Given the description of an element on the screen output the (x, y) to click on. 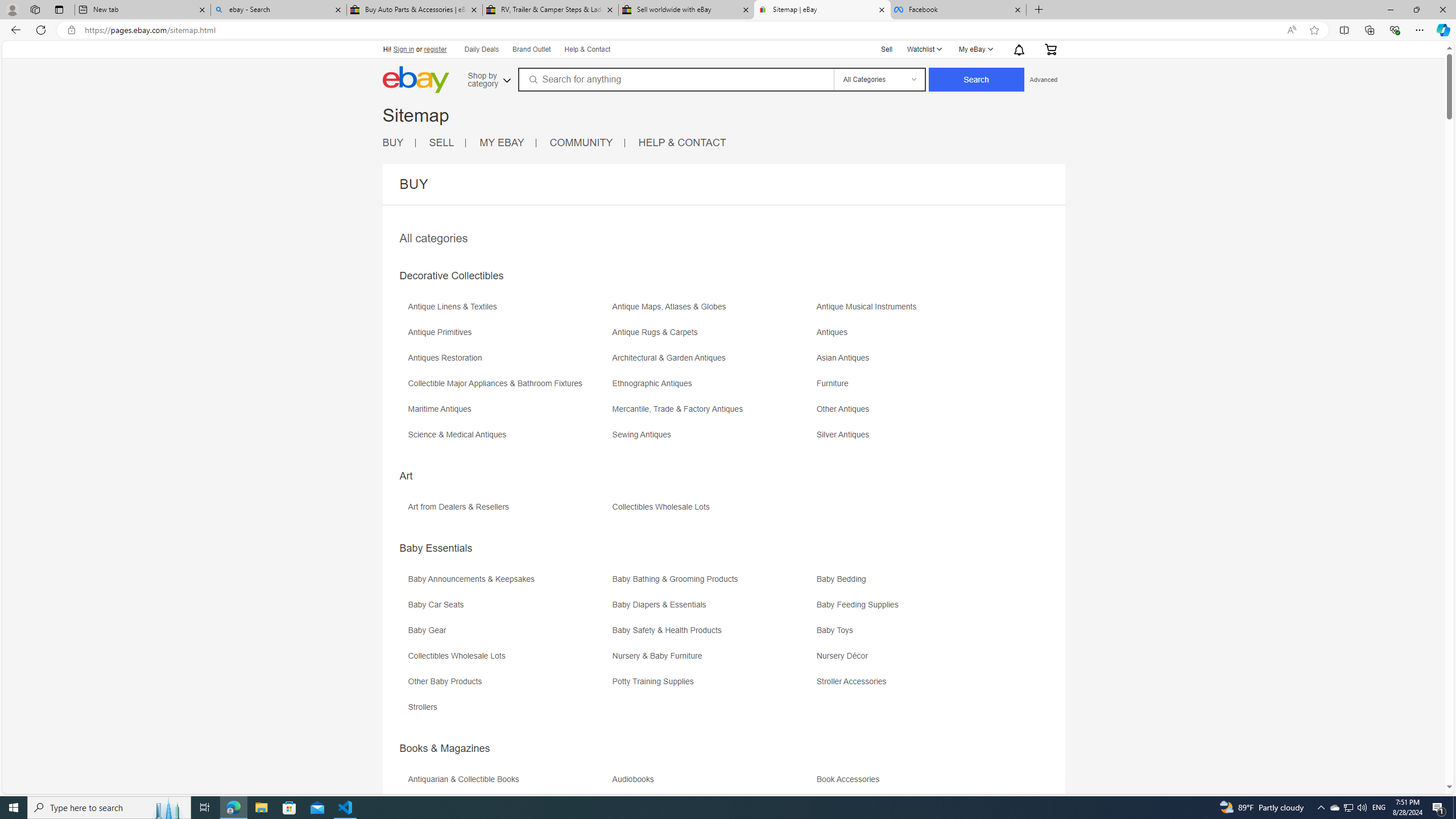
Baby Bedding (917, 582)
Baby Announcements & Keepsakes (508, 582)
Advanced Search (1042, 78)
Baby Diapers & Essentials (712, 608)
Potty Training Supplies (712, 685)
Baby Toys (837, 630)
Baby Car Seats (508, 608)
Potty Training Supplies (654, 681)
COMMUNITY (580, 142)
Nursery & Baby Furniture (659, 655)
eBay Logo (453, 96)
